Given the description of an element on the screen output the (x, y) to click on. 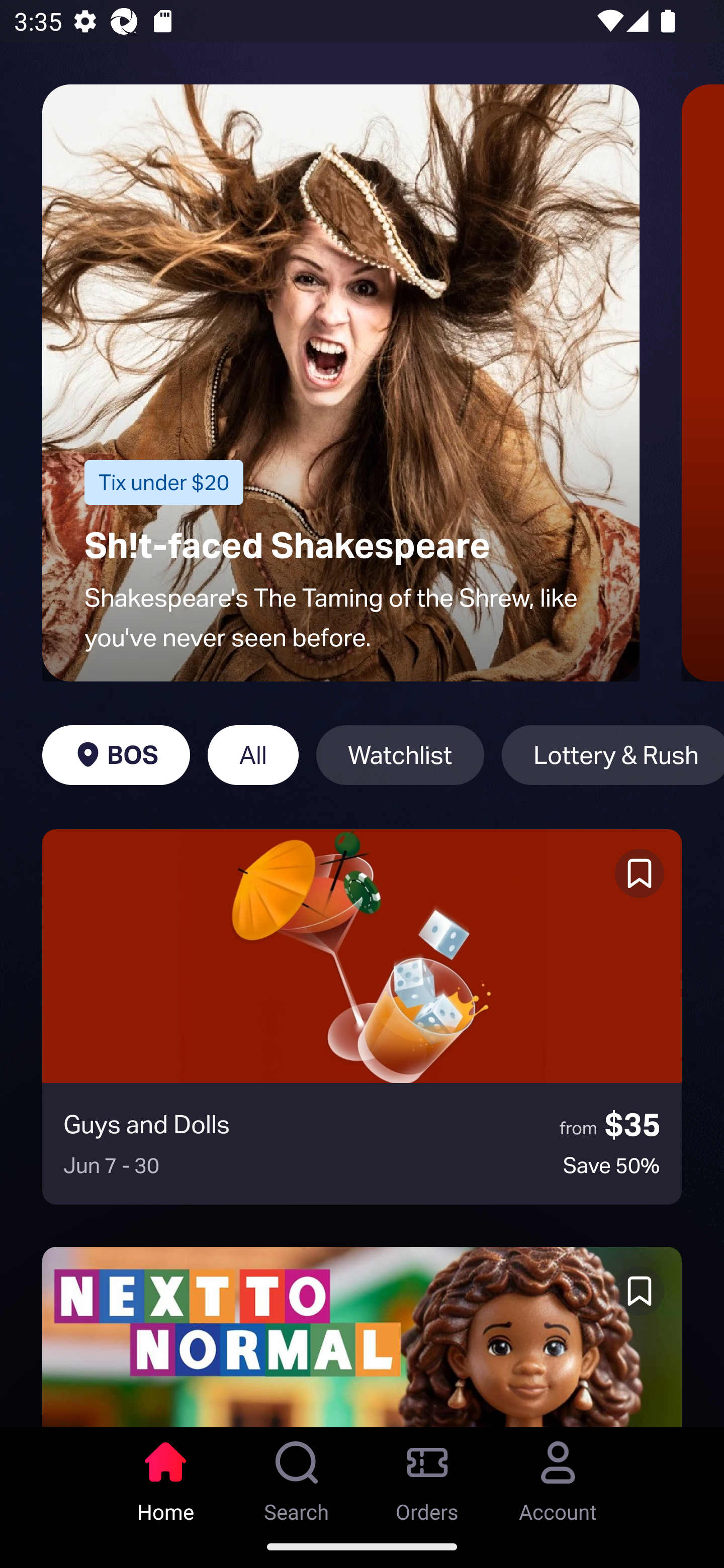
BOS (115, 754)
All (252, 754)
Watchlist (400, 754)
Lottery & Rush (612, 754)
Guys and Dolls from $35 Jun 7 - 30 Save 50% (361, 1016)
Search (296, 1475)
Orders (427, 1475)
Account (558, 1475)
